Given the description of an element on the screen output the (x, y) to click on. 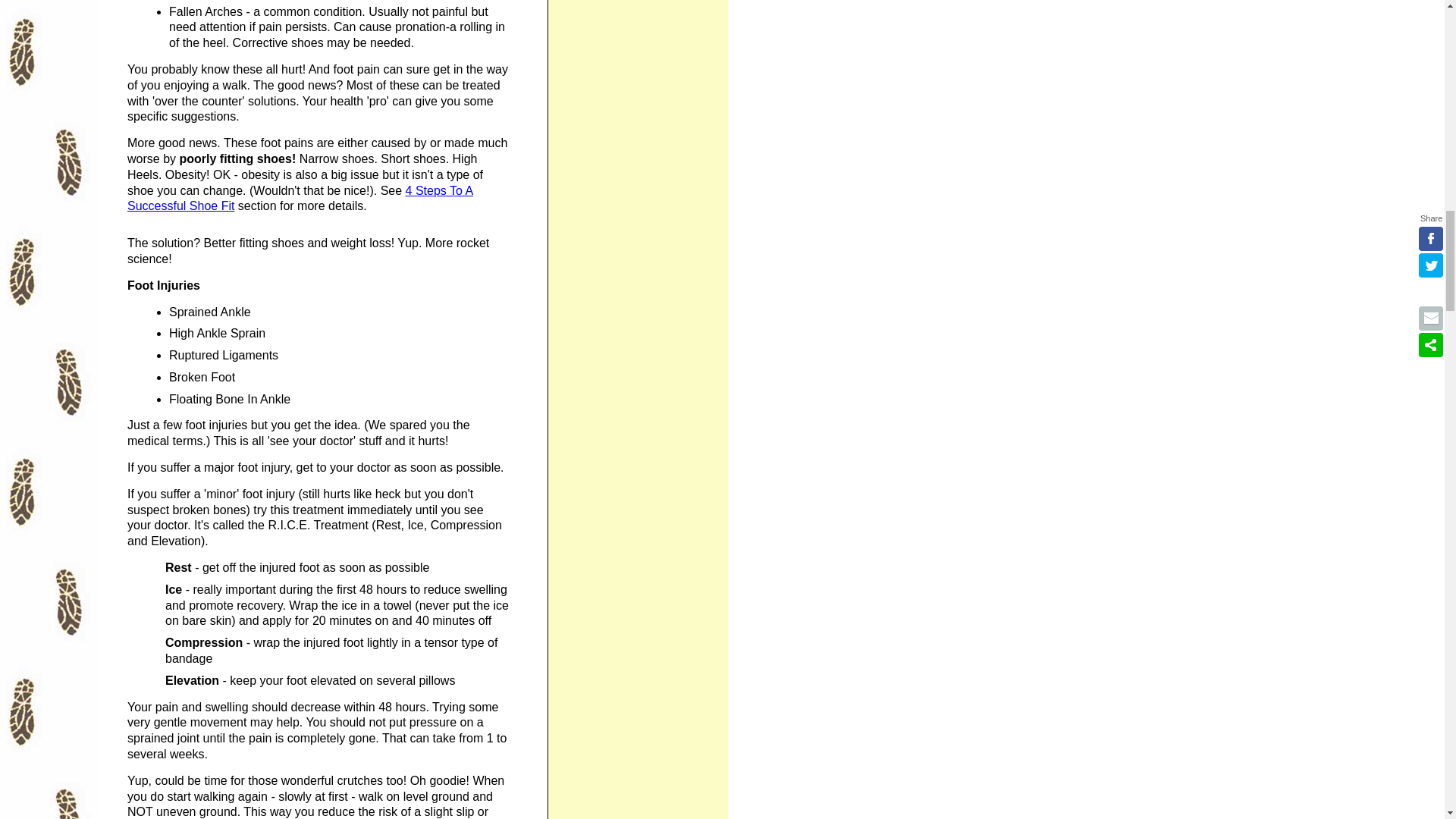
4 Steps To A Successful Shoe Fit (300, 198)
